Given the description of an element on the screen output the (x, y) to click on. 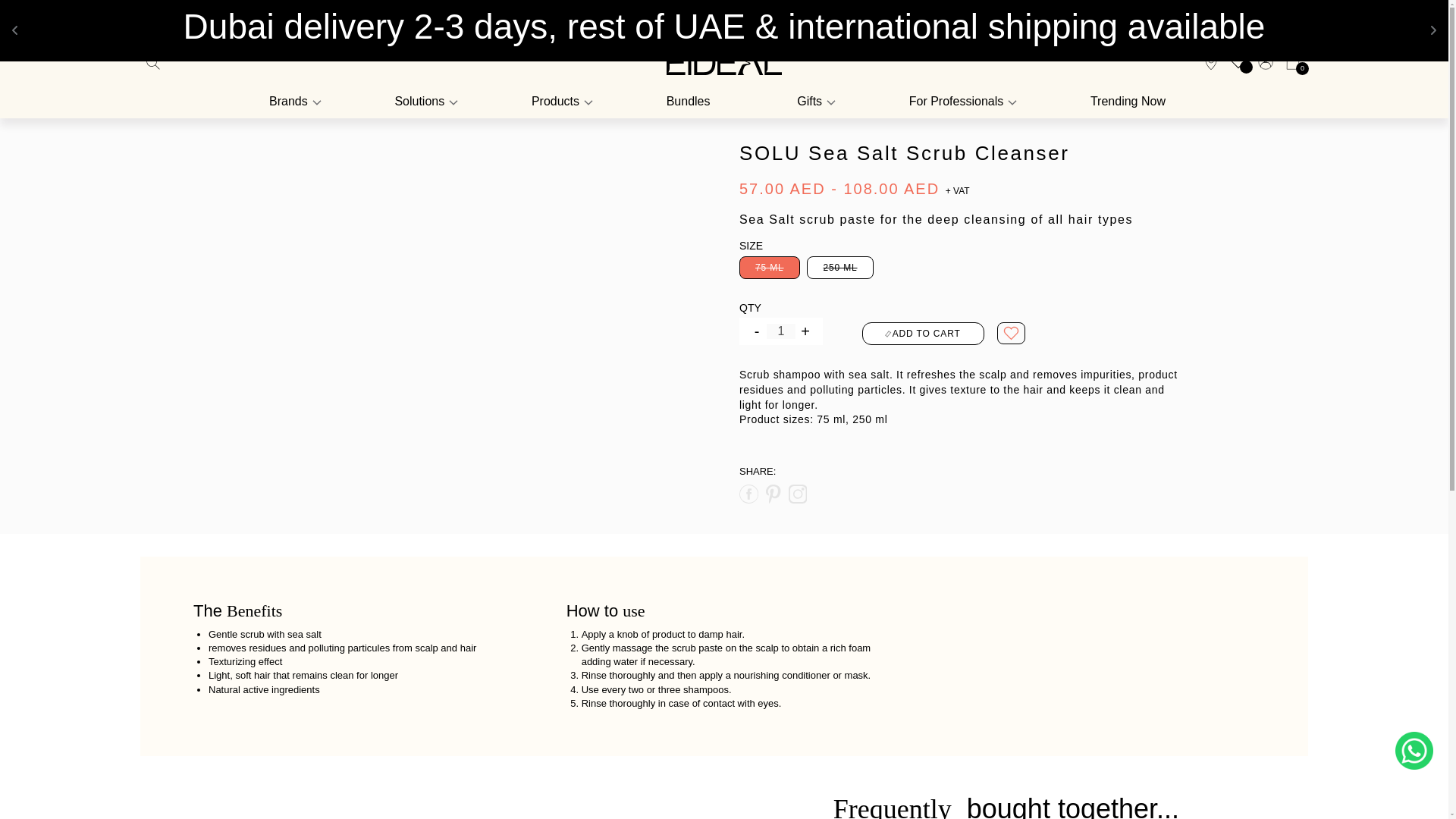
Wishlist (1238, 61)
Brands (295, 101)
Products (559, 101)
- (756, 331)
1 (780, 331)
My Account (1265, 61)
Whatsapp us now (1413, 750)
Solutions (424, 101)
0 (1289, 61)
